Given the description of an element on the screen output the (x, y) to click on. 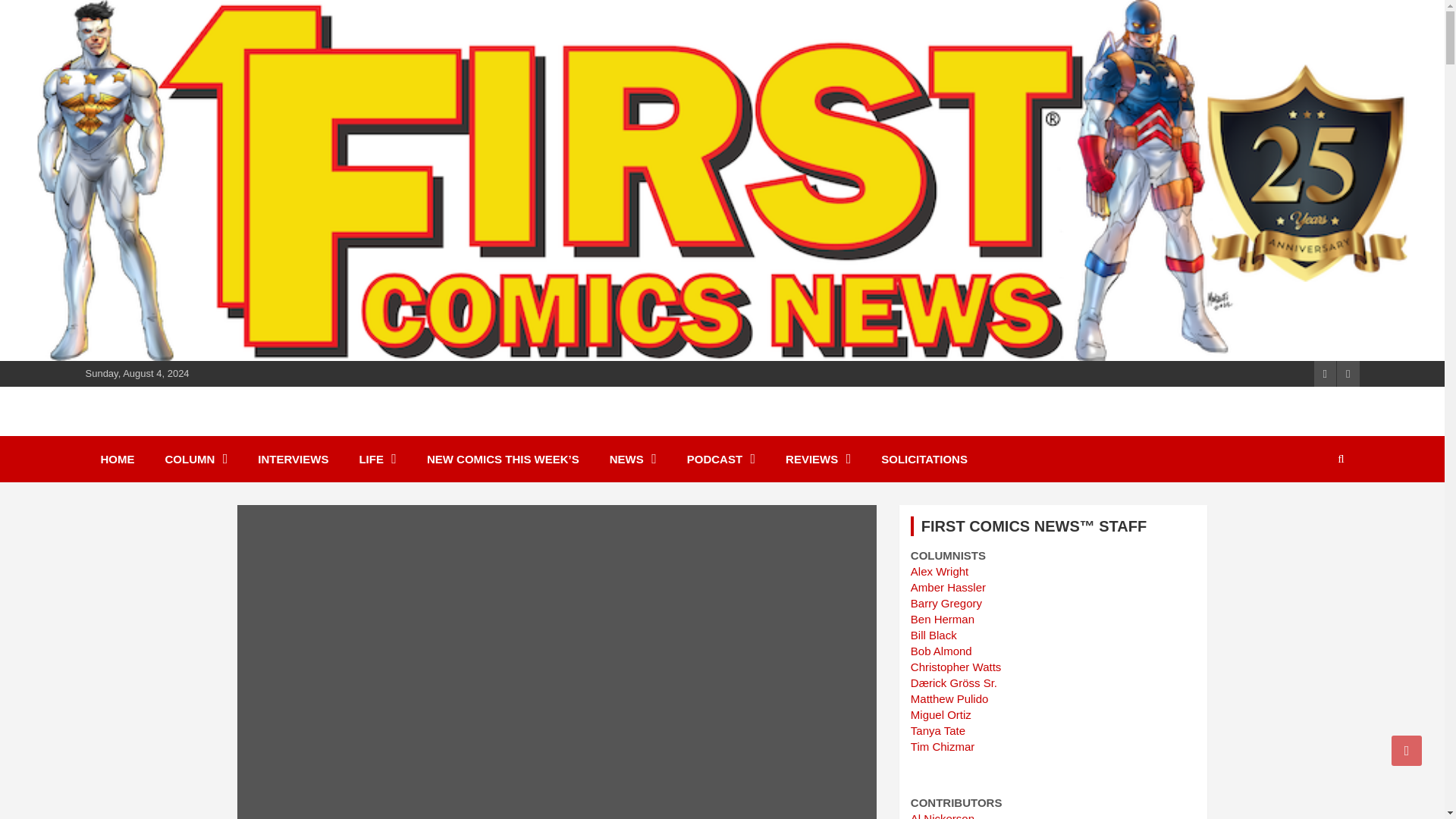
COLUMN (196, 458)
PODCAST (720, 458)
LIFE (377, 458)
HOME (116, 458)
NEWS (632, 458)
Go to Top (1406, 750)
INTERVIEWS (293, 458)
First Comics News (220, 428)
REVIEWS (818, 458)
